Given the description of an element on the screen output the (x, y) to click on. 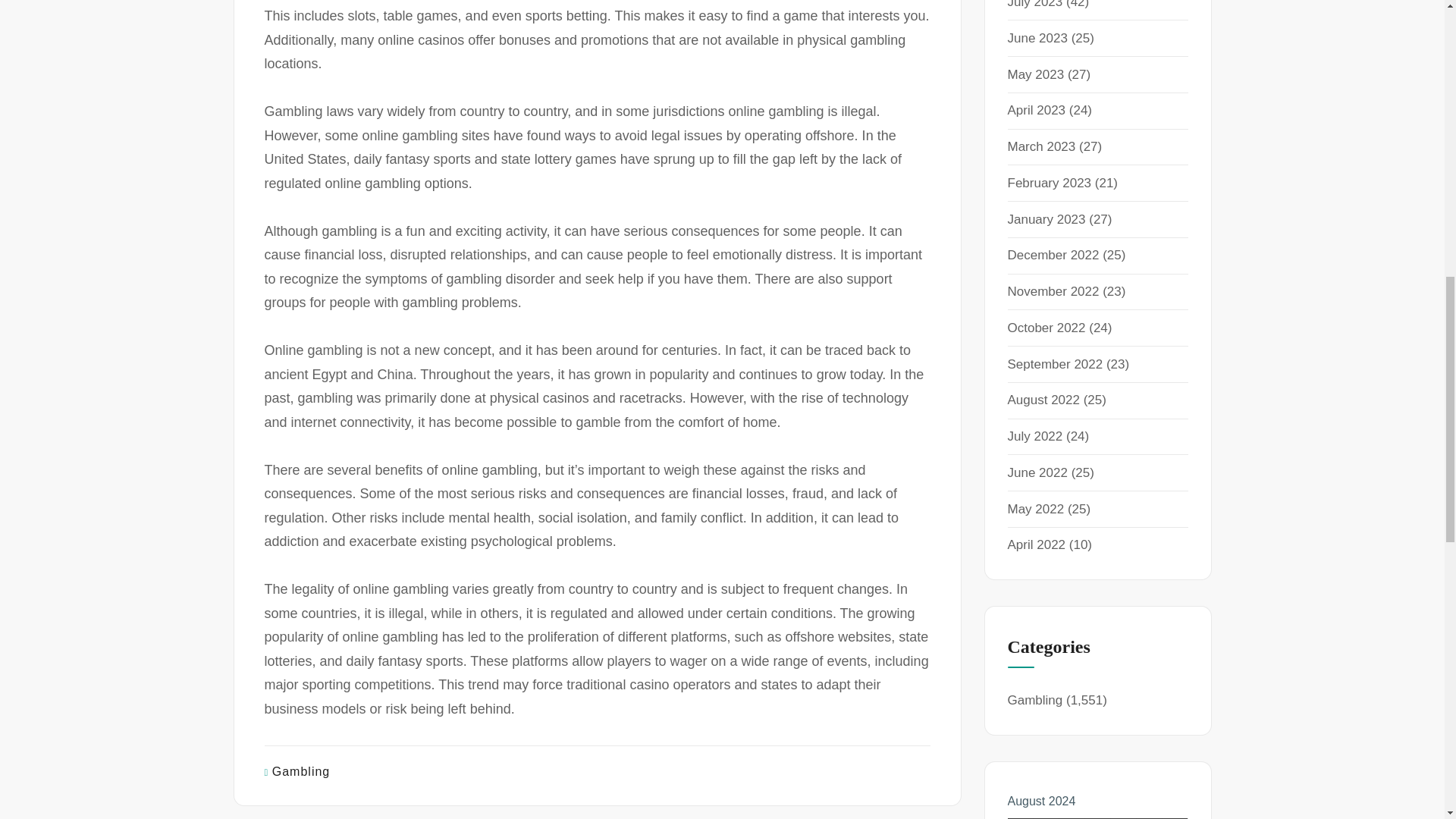
November 2022 (1053, 291)
January 2023 (1045, 219)
October 2022 (1045, 327)
December 2022 (1053, 255)
February 2023 (1048, 183)
September 2022 (1054, 364)
July 2023 (1034, 4)
June 2023 (1037, 38)
March 2023 (1041, 146)
April 2023 (1036, 110)
